Given the description of an element on the screen output the (x, y) to click on. 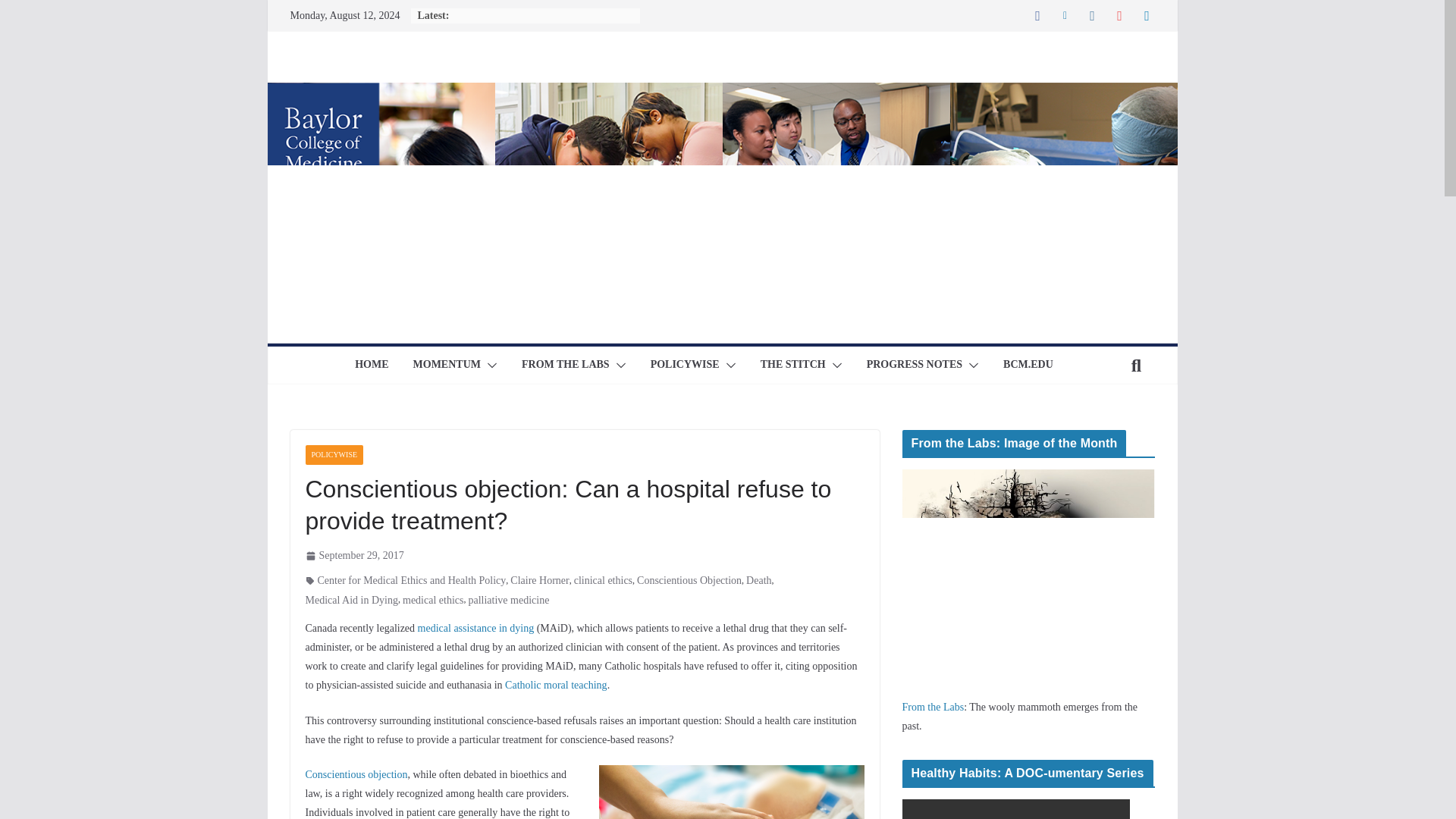
HOME (371, 364)
THE STITCH (792, 364)
PROGRESS NOTES (914, 364)
MOMENTUM (446, 364)
FROM THE LABS (565, 364)
POLICYWISE (684, 364)
BCM.EDU (1027, 364)
7:45 am (353, 555)
